Given the description of an element on the screen output the (x, y) to click on. 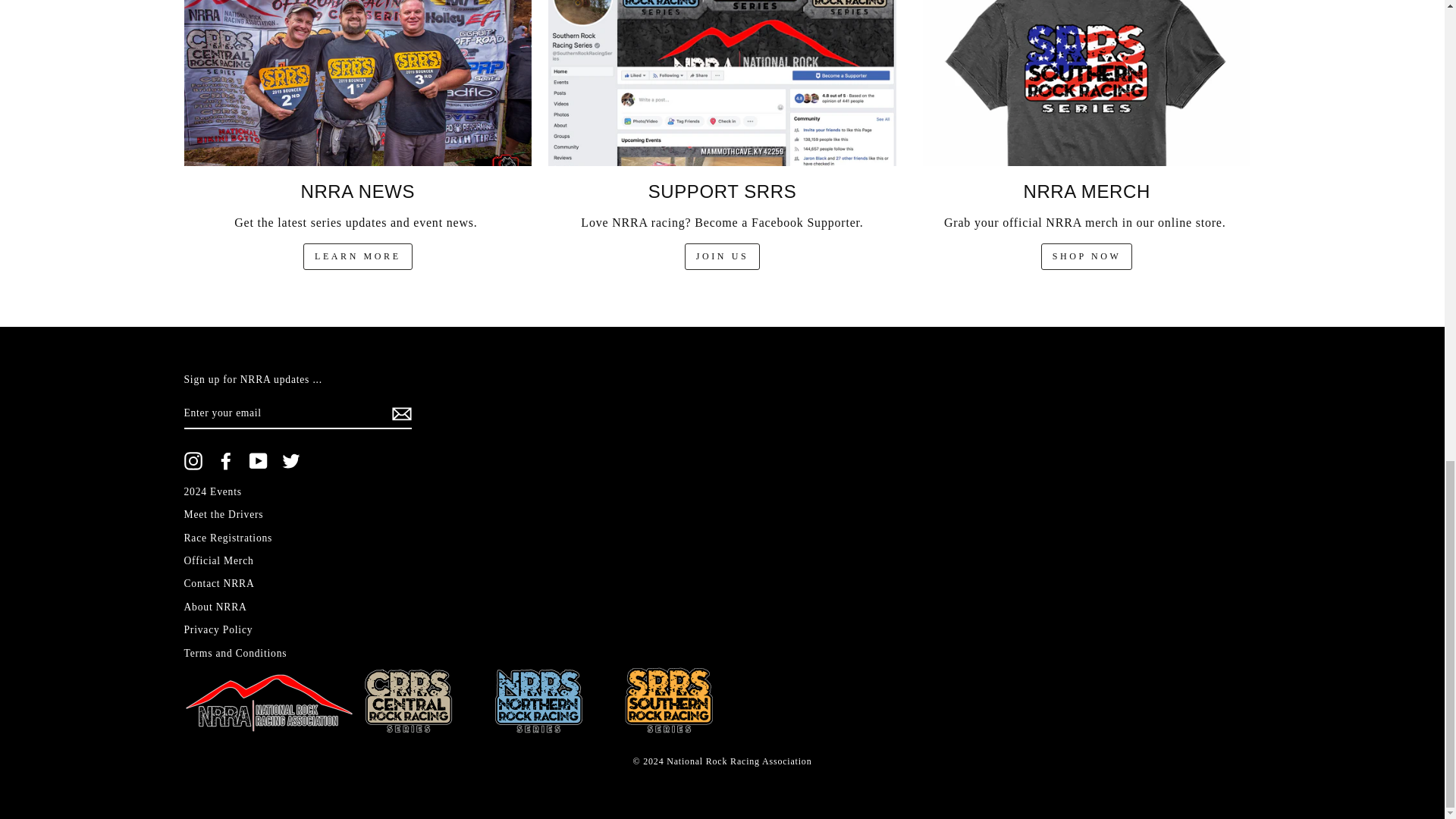
National Rock Racing Association on Twitter (290, 461)
National Rock Racing Association on YouTube (257, 461)
National Rock Racing Association on Facebook (225, 461)
National Rock Racing Association on Instagram (192, 461)
